Given the description of an element on the screen output the (x, y) to click on. 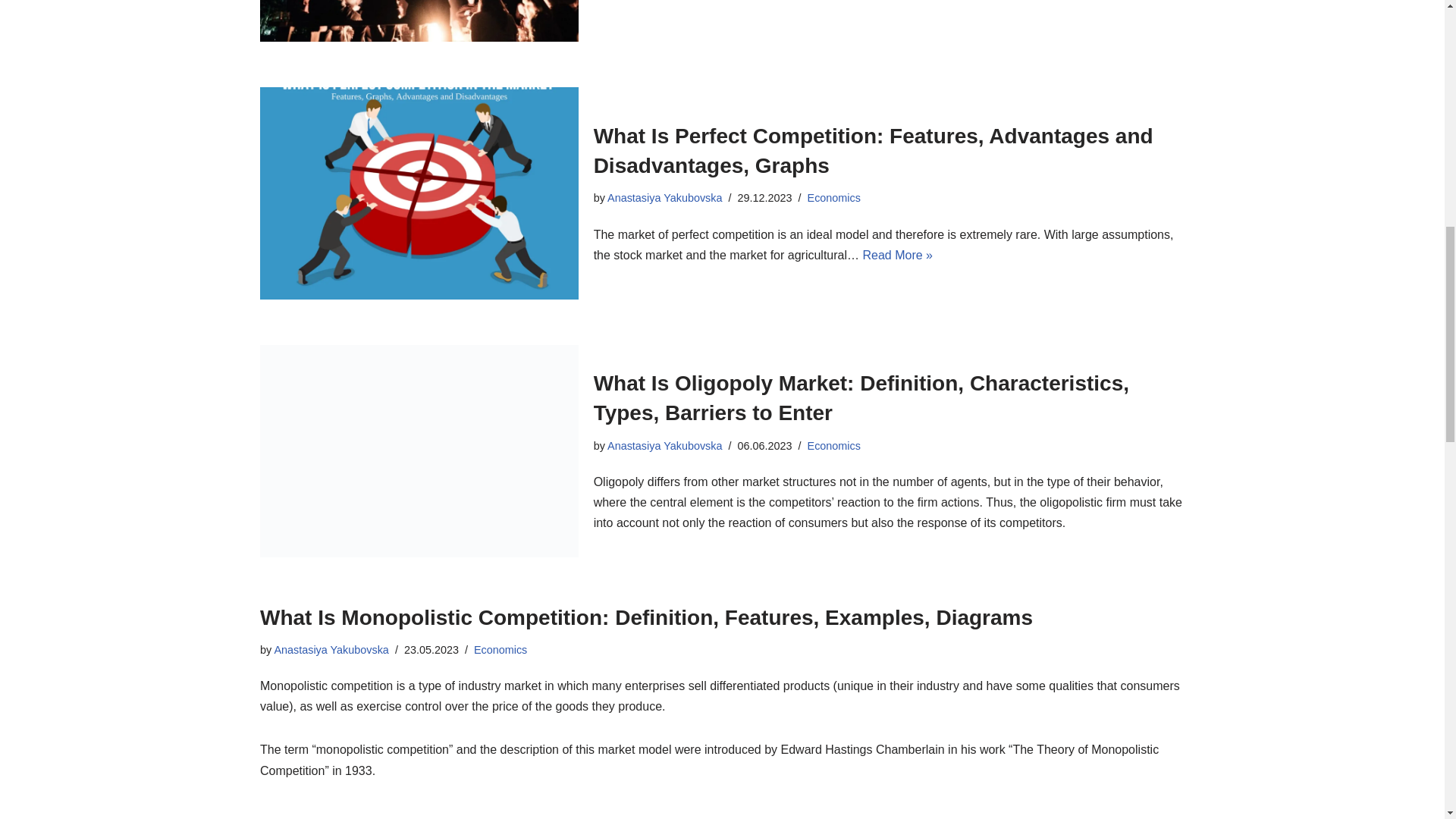
Posts by Anastasiya Yakubovska (330, 649)
What Is Storytelling and Why Is It Important? (419, 20)
Posts by Anastasiya Yakubovska (664, 445)
Posts by Anastasiya Yakubovska (664, 197)
